Given the description of an element on the screen output the (x, y) to click on. 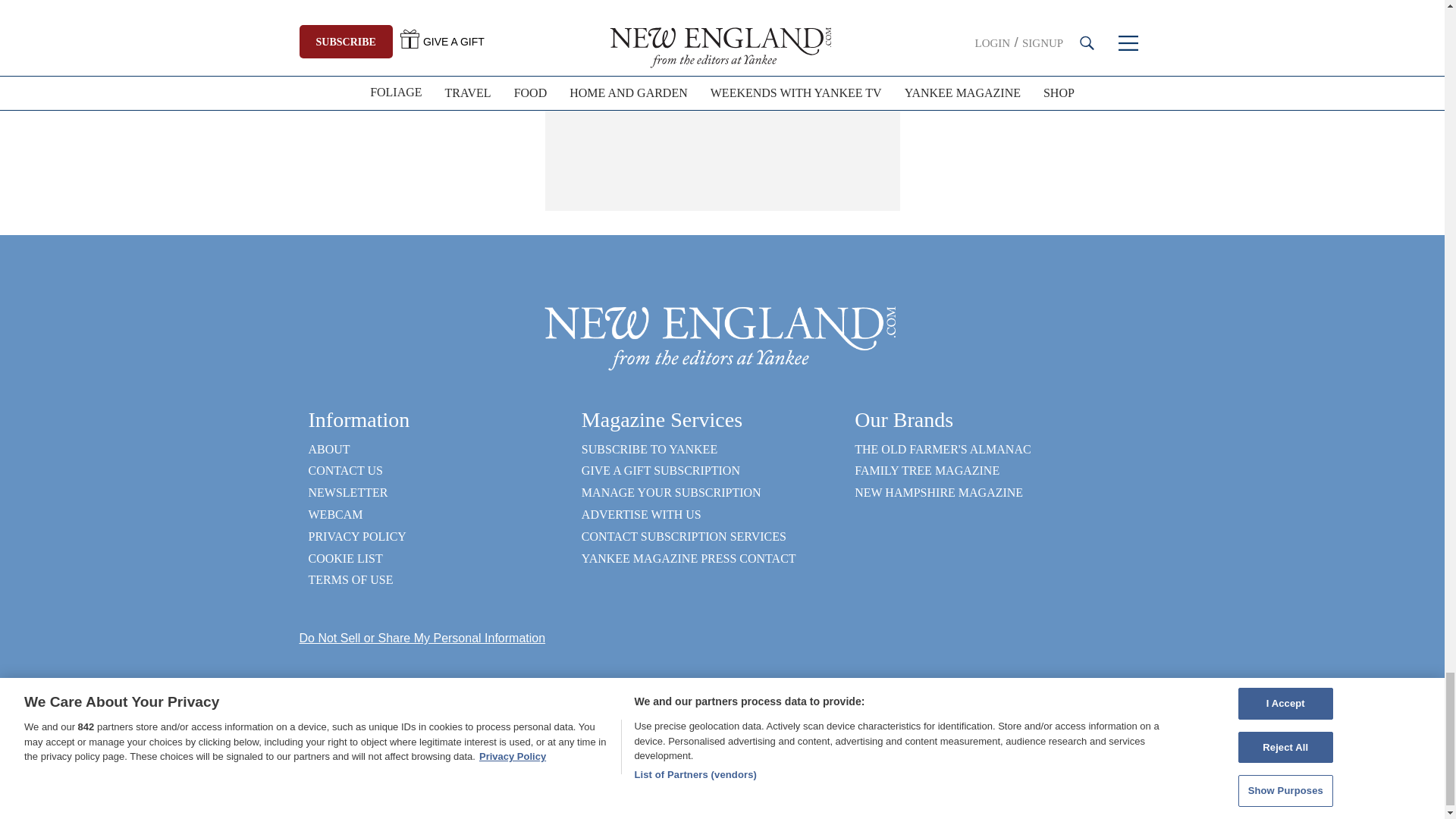
new-england-logo-footer-white (721, 336)
